Given the description of an element on the screen output the (x, y) to click on. 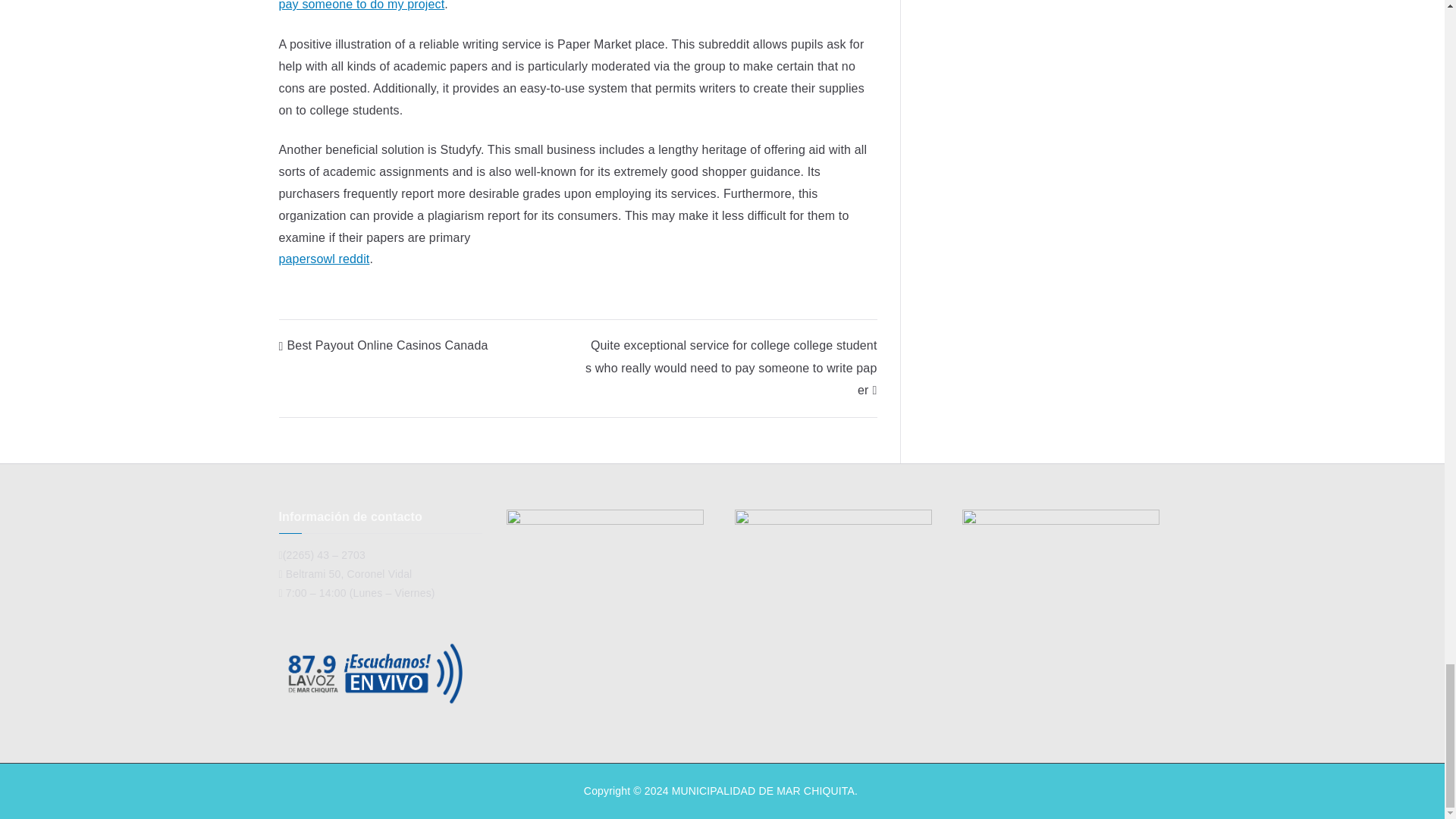
MUNICIPALIDAD DE MAR CHIQUITA (762, 790)
